Given the description of an element on the screen output the (x, y) to click on. 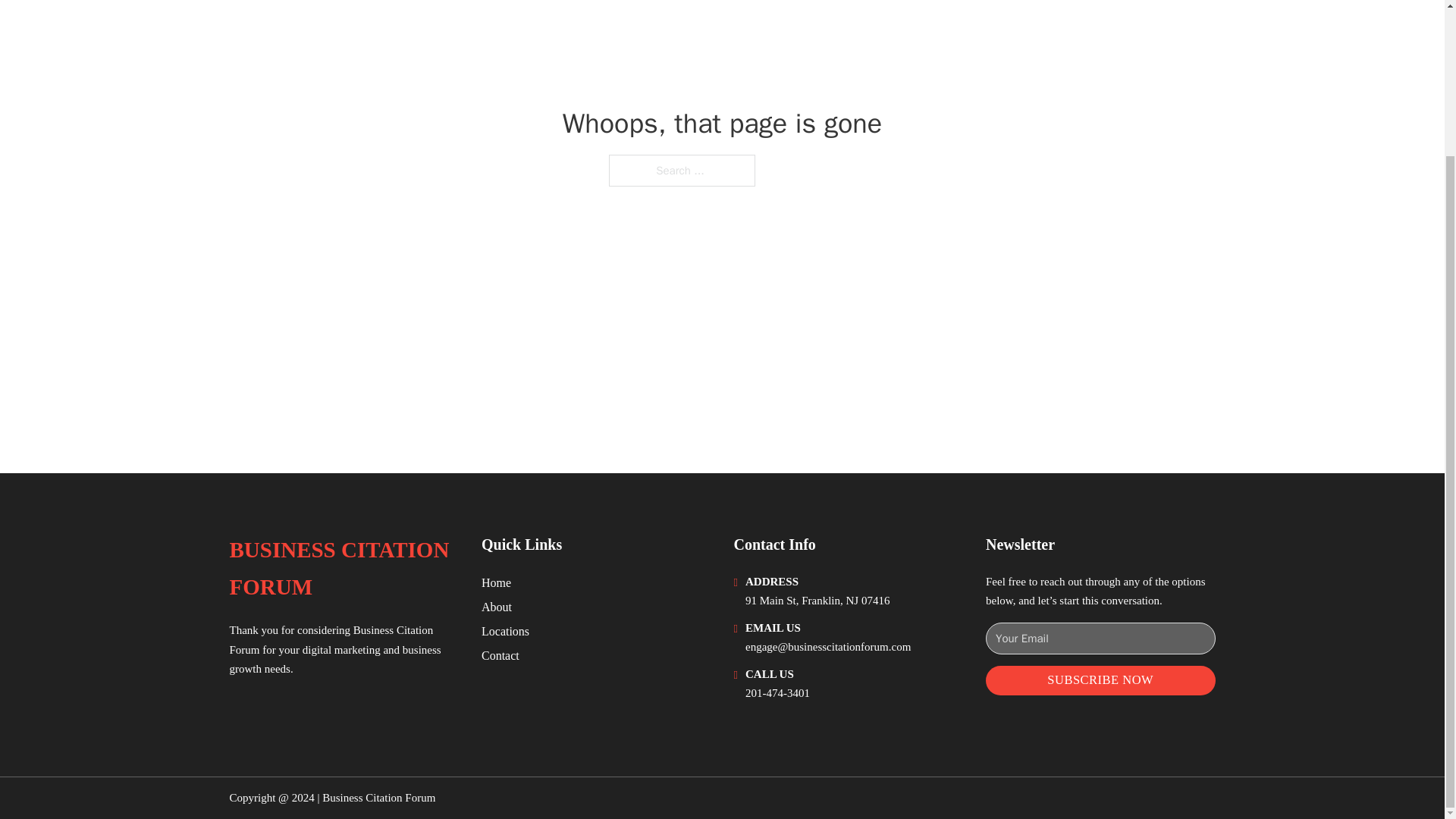
201-474-3401 (777, 693)
Home (496, 582)
Contact (500, 655)
SUBSCRIBE NOW (1100, 680)
BUSINESS CITATION FORUM (343, 568)
About (496, 607)
Locations (505, 630)
